Given the description of an element on the screen output the (x, y) to click on. 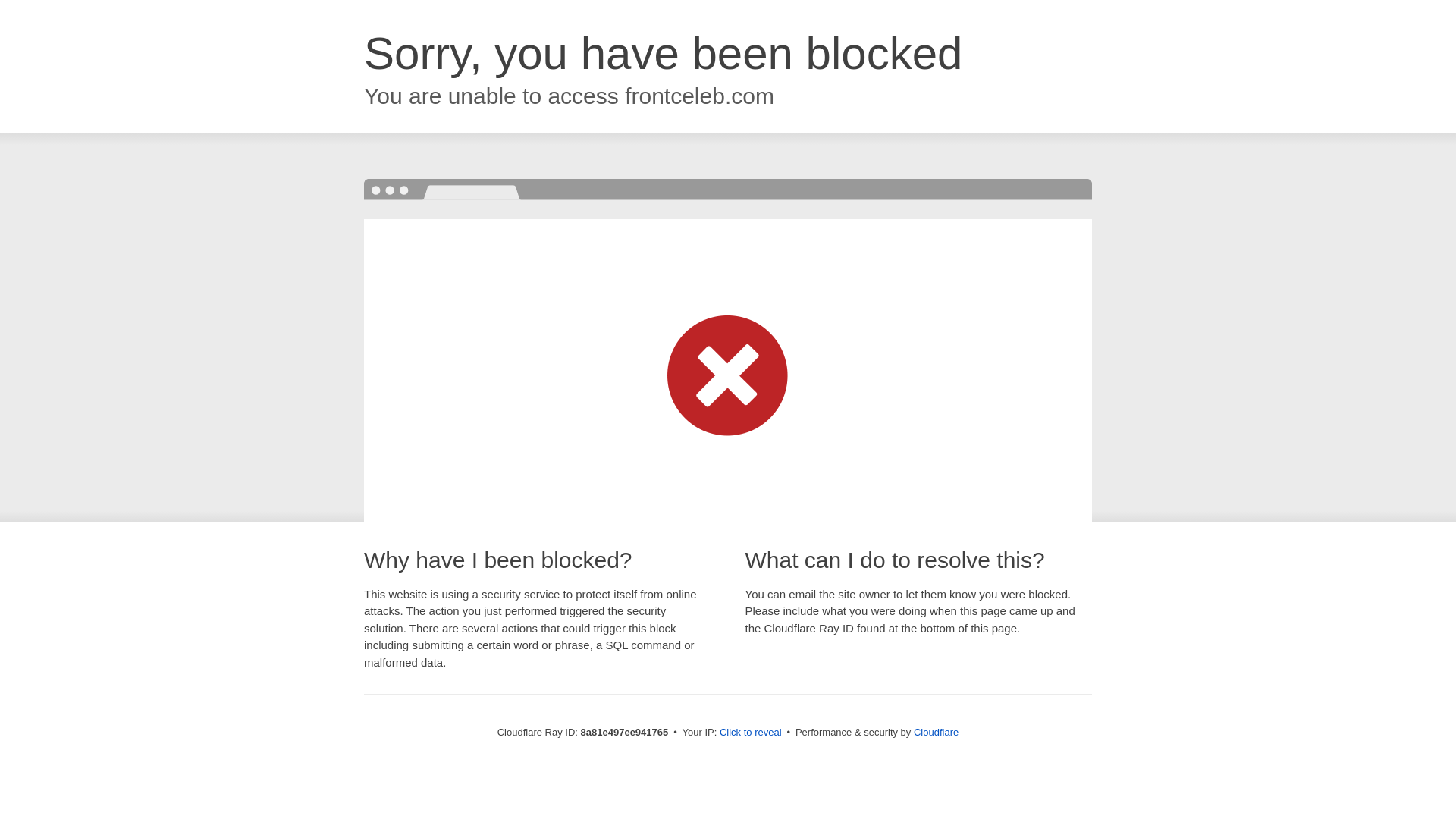
Cloudflare (936, 731)
Click to reveal (750, 732)
